Given the description of an element on the screen output the (x, y) to click on. 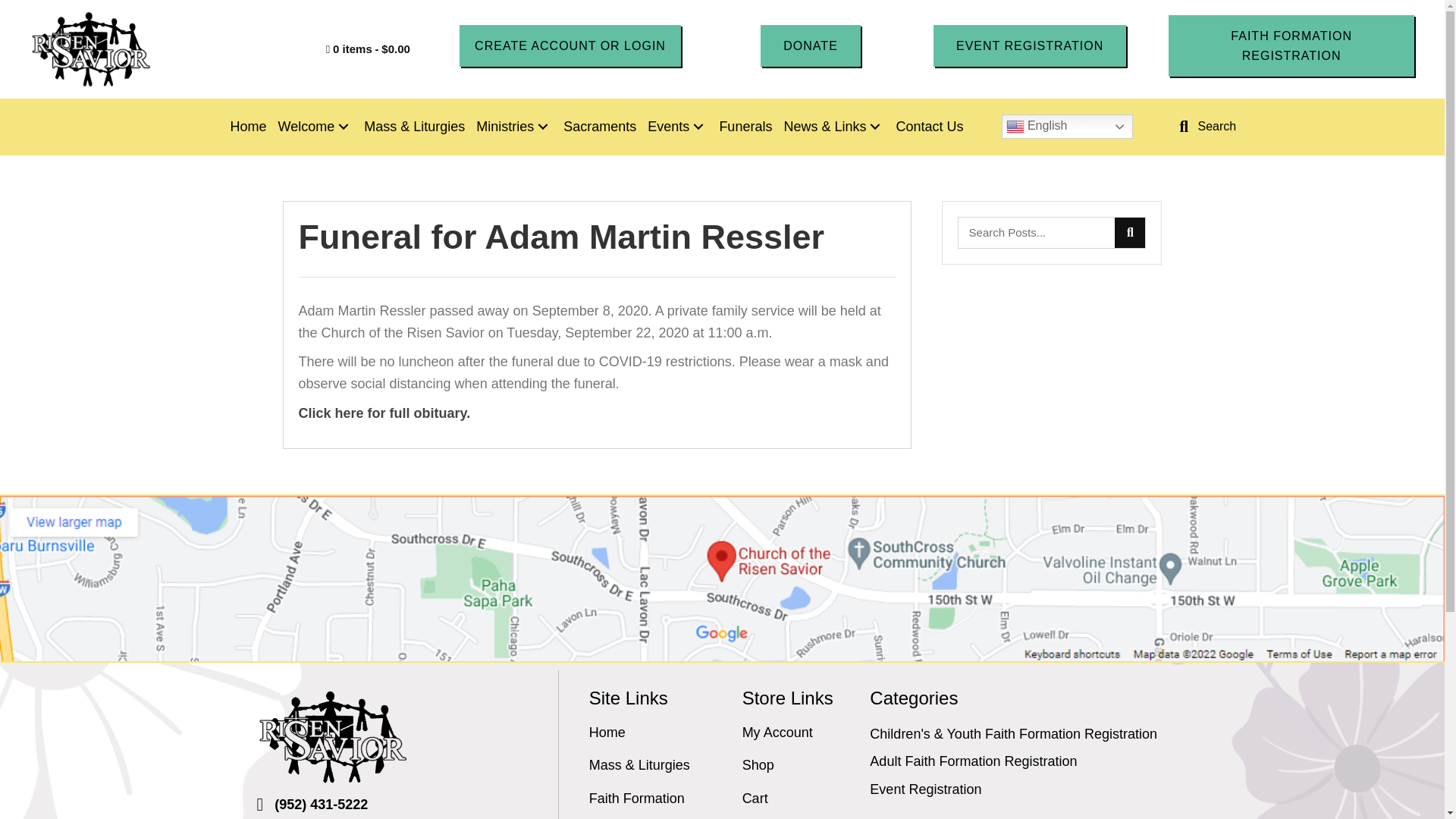
Events (678, 126)
Search (1036, 232)
Ministries (515, 126)
FAITH FORMATION REGISTRATION (1291, 45)
Start shopping (368, 48)
Welcome (318, 126)
Home (249, 126)
DONATE (810, 46)
CREATE ACCOUNT OR LOGIN (570, 46)
EVENT REGISTRATION (1029, 46)
RS Simple LOGO BW (90, 48)
Sacraments (601, 126)
